Given the description of an element on the screen output the (x, y) to click on. 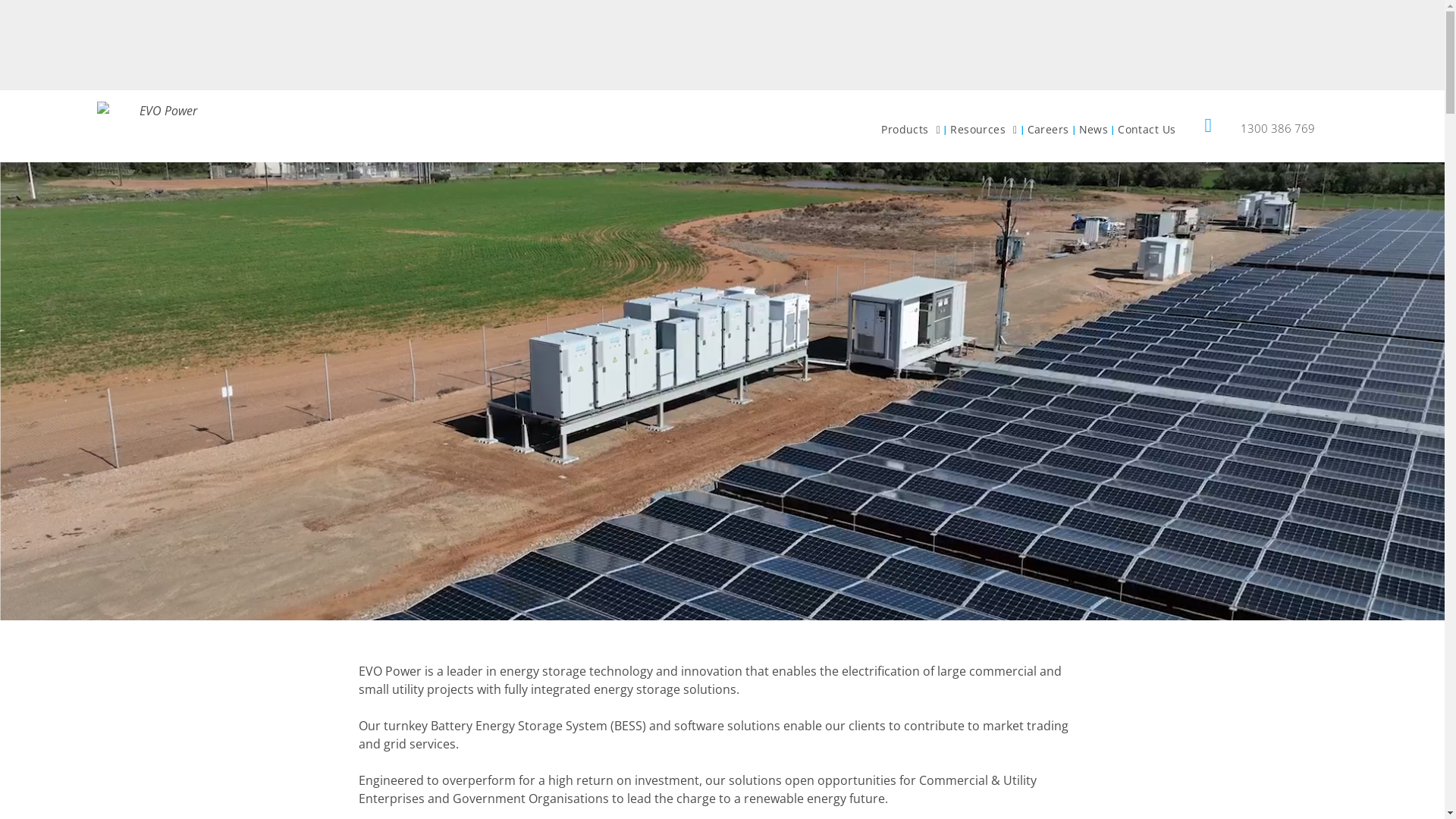
1300 386 769 Element type: text (1279, 124)
News Element type: text (1093, 129)
Products Element type: text (910, 129)
Contact Us Element type: text (1146, 129)
Resources Element type: text (983, 129)
Careers Element type: text (1048, 129)
